Given the description of an element on the screen output the (x, y) to click on. 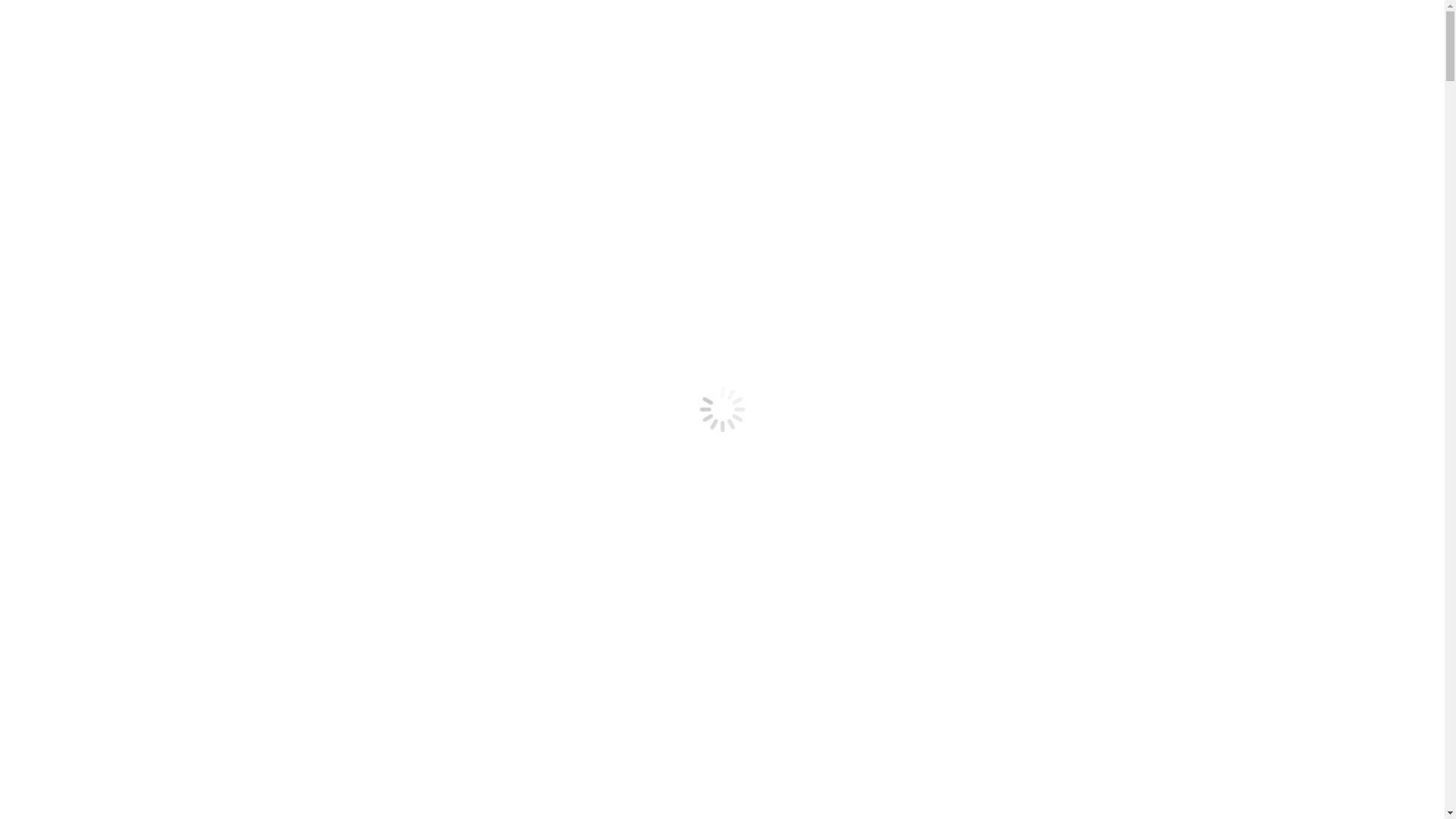
Home Element type: text (568, 37)
About Element type: text (713, 37)
Services Element type: text (640, 37)
Tips Element type: text (1071, 37)
Request Call Back Element type: text (892, 37)
Contact Element type: text (1136, 37)
Our Work Element type: text (1000, 37)
Benefits Element type: text (786, 37)
